Given the description of an element on the screen output the (x, y) to click on. 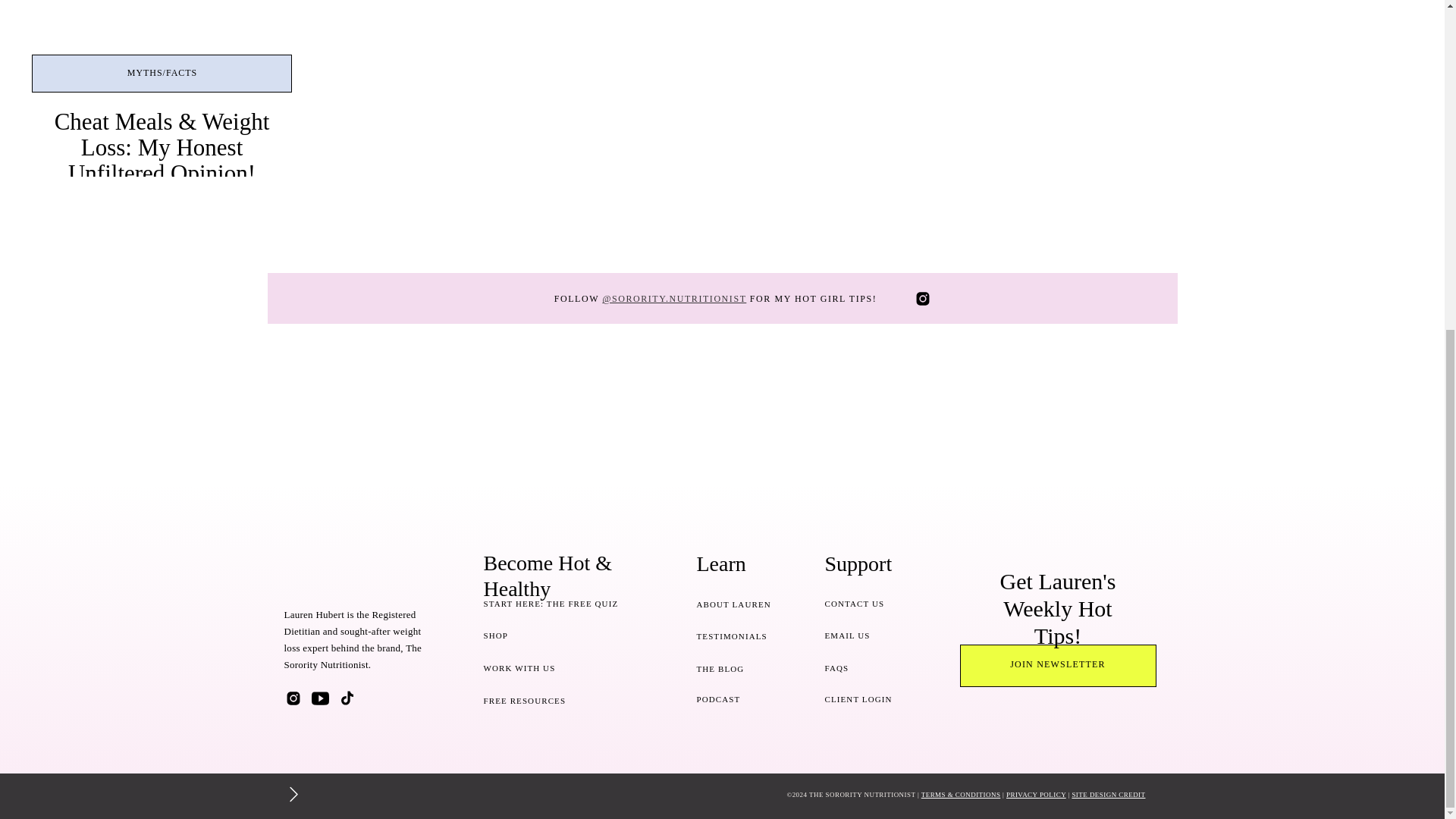
JOIN NEWSLETTER (1057, 665)
THE BLOG (739, 667)
FAQS (869, 667)
CONTACT US (868, 602)
EMAIL US (869, 635)
PODCAST (739, 699)
CLIENT LOGIN (869, 698)
